Given the description of an element on the screen output the (x, y) to click on. 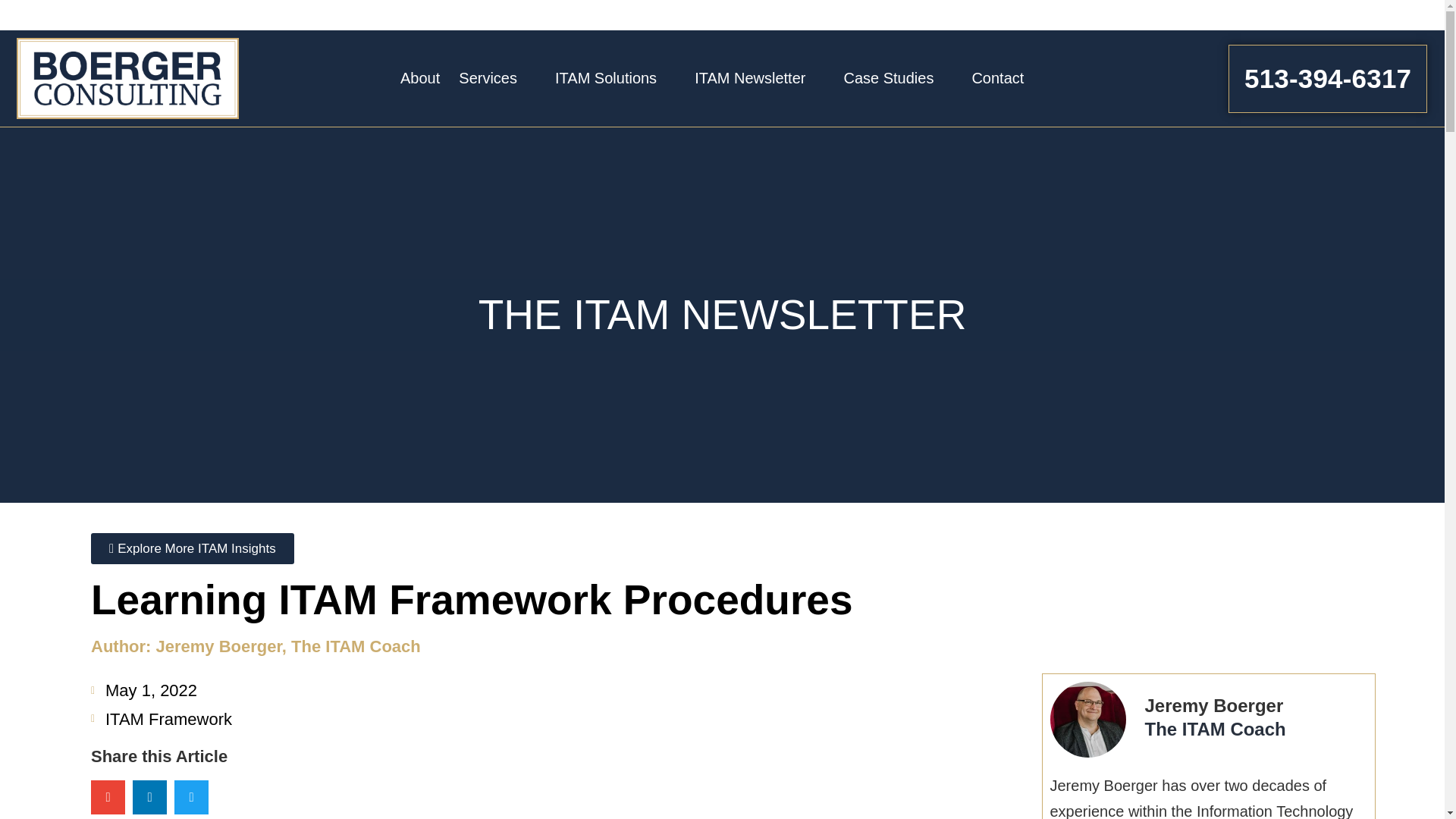
Case Studies (888, 77)
ITAM Newsletter (749, 77)
Services (487, 77)
ITAM Solutions (605, 77)
Contact (997, 77)
About (419, 77)
